Given the description of an element on the screen output the (x, y) to click on. 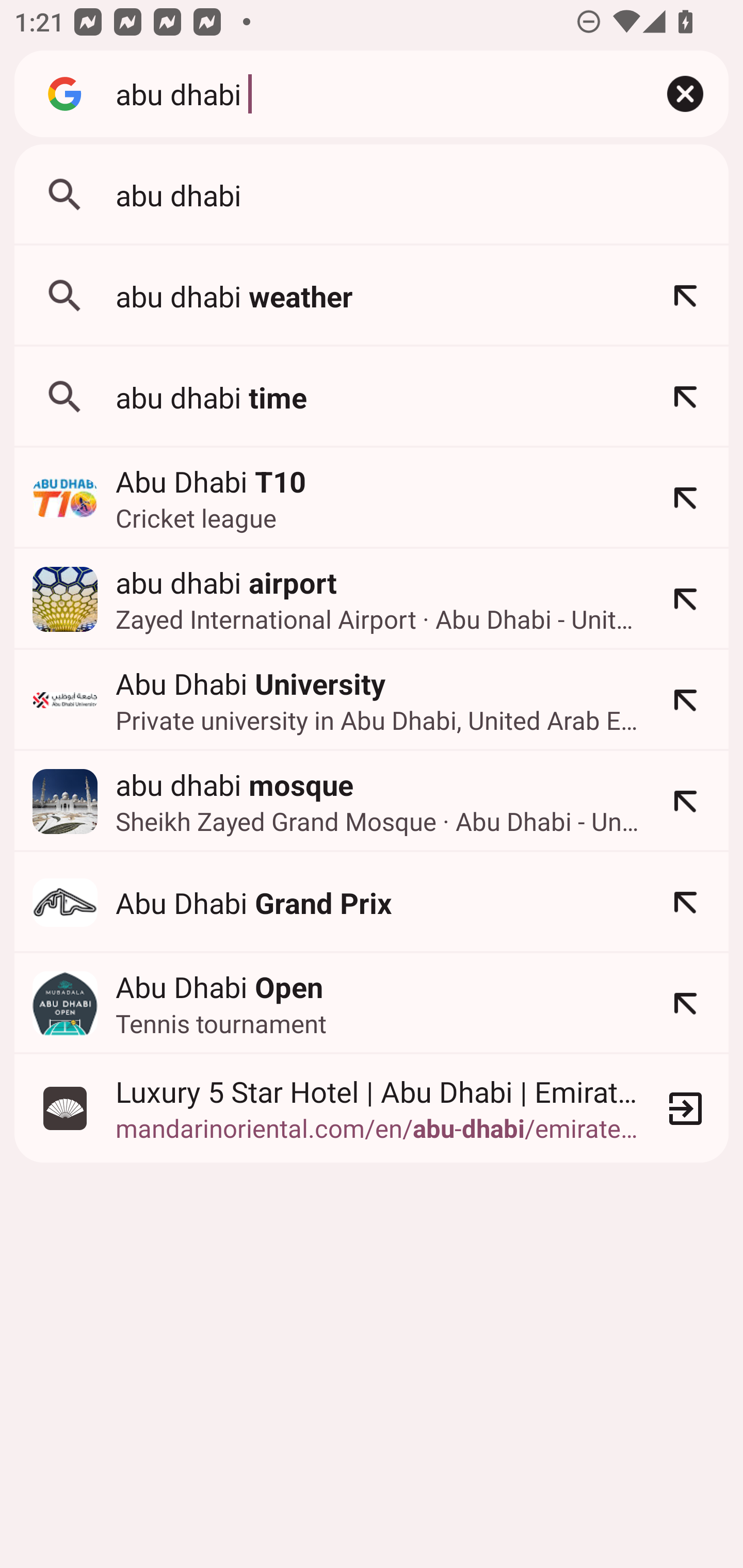
Clear input (684, 93)
abu dhabi  (367, 92)
abu dhabi (371, 195)
abu dhabi weather Refine: abu dhabi weather (371, 296)
Refine: abu dhabi weather (684, 296)
abu dhabi time Refine: abu dhabi time (371, 397)
Refine: abu dhabi time (684, 397)
Abu Dhabi T10 Cricket league Refine: abu dhabi t10 (371, 498)
Refine: abu dhabi t10 (684, 498)
Refine: abu dhabi airport (684, 598)
Refine: abu dhabi university (684, 700)
Refine: abu dhabi mosque (684, 801)
Abu Dhabi Grand Prix Refine: abu dhabi f1 (371, 902)
Refine: abu dhabi f1 (684, 902)
Refine: abu dhabi open (684, 1003)
Switch To Tab (684, 1107)
